Given the description of an element on the screen output the (x, y) to click on. 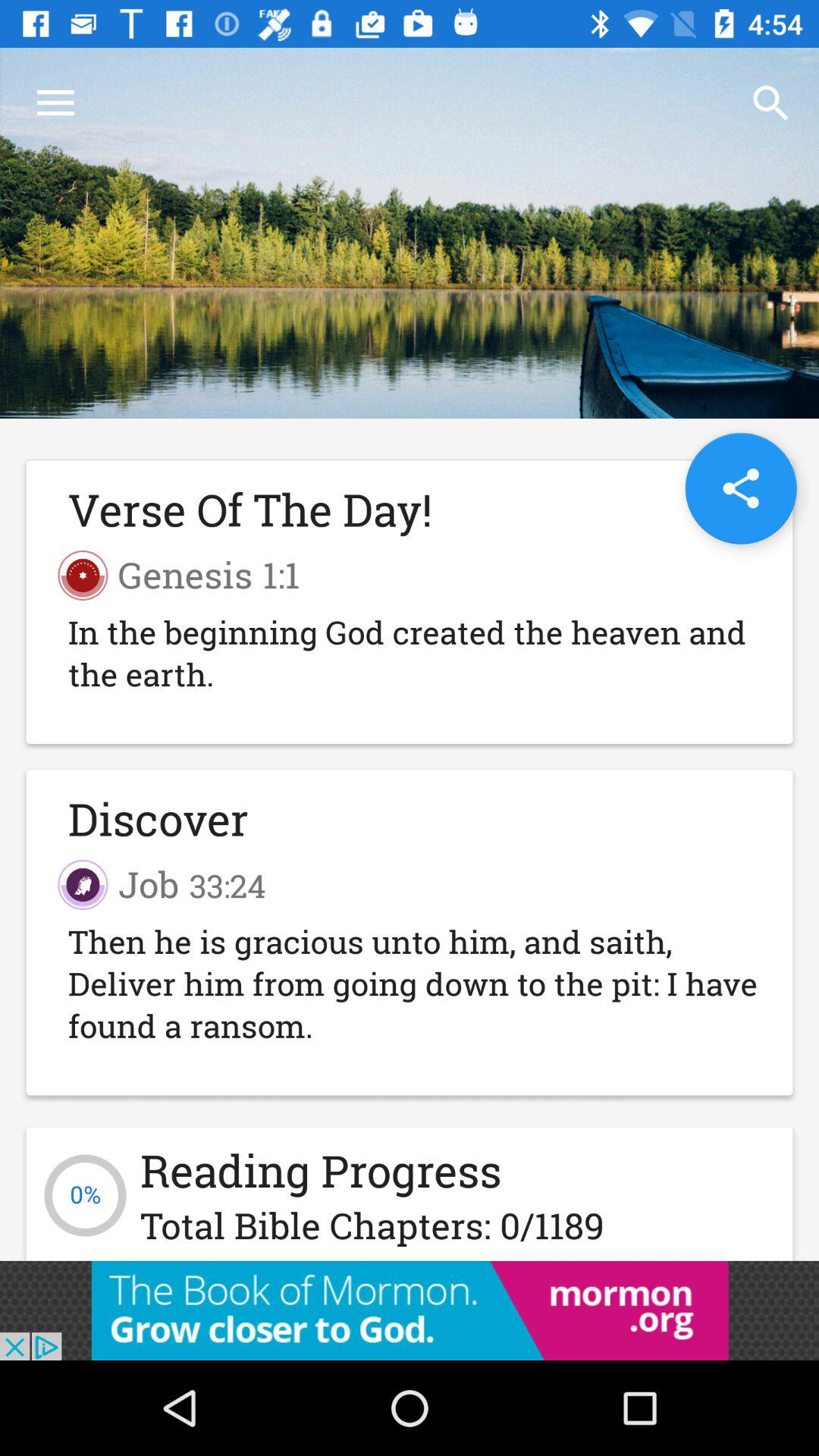
open the advertisement link (409, 1310)
